Given the description of an element on the screen output the (x, y) to click on. 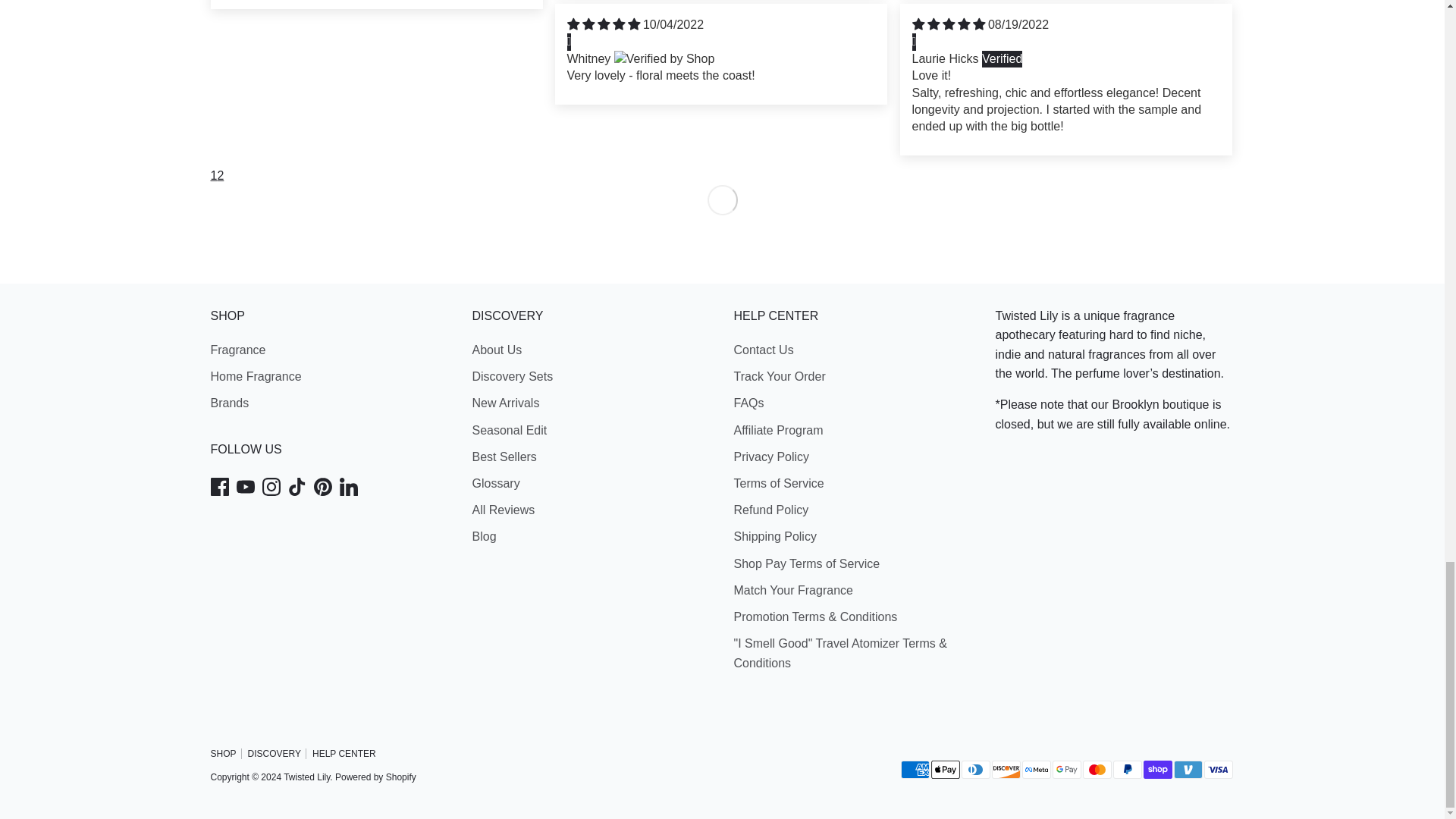
Meta Pay (1036, 769)
Discover (1005, 769)
Diners Club (975, 769)
Apple Pay (945, 769)
American Express (915, 769)
